Given the description of an element on the screen output the (x, y) to click on. 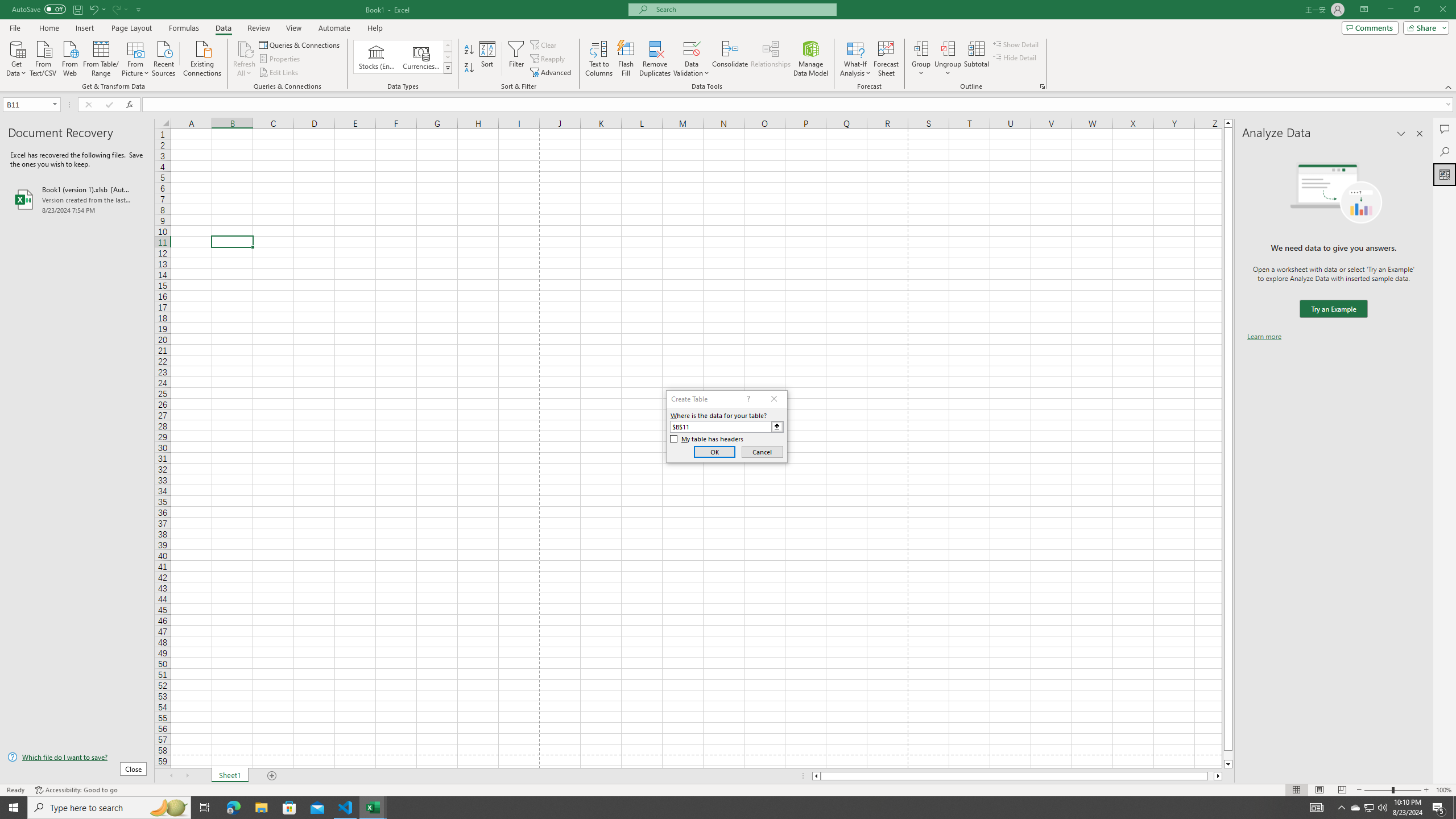
Ungroup... (947, 48)
Group... (921, 48)
Properties (280, 58)
Data Types (448, 67)
Search (1444, 151)
Existing Connections (202, 57)
Zoom (1392, 790)
Save (77, 9)
Analyze Data (1444, 173)
Data (223, 28)
Remove Duplicates (654, 58)
Currencies (English) (420, 56)
Restore Down (1416, 9)
Minimize (1390, 9)
